Given the description of an element on the screen output the (x, y) to click on. 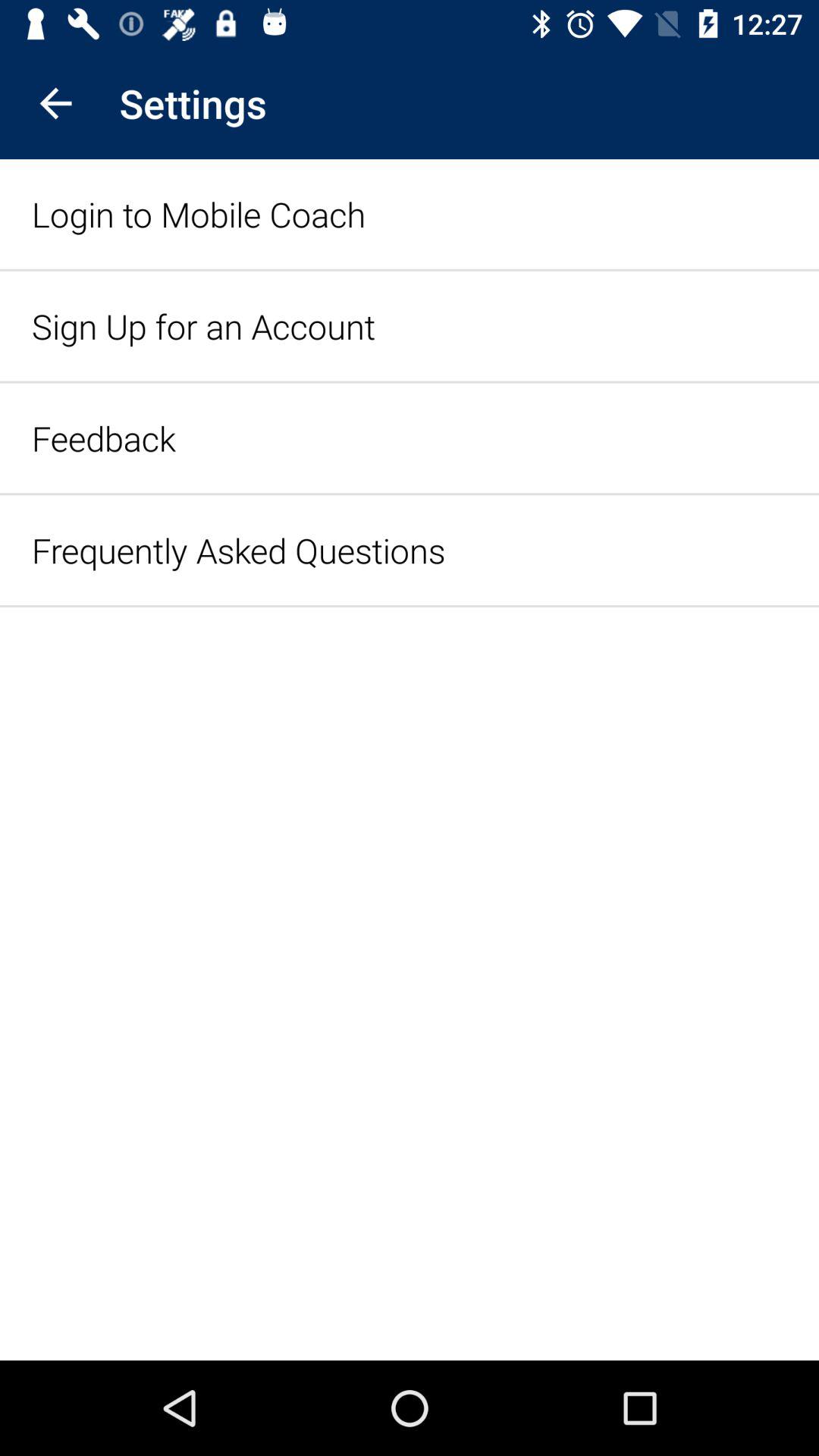
swipe to feedback icon (103, 438)
